Given the description of an element on the screen output the (x, y) to click on. 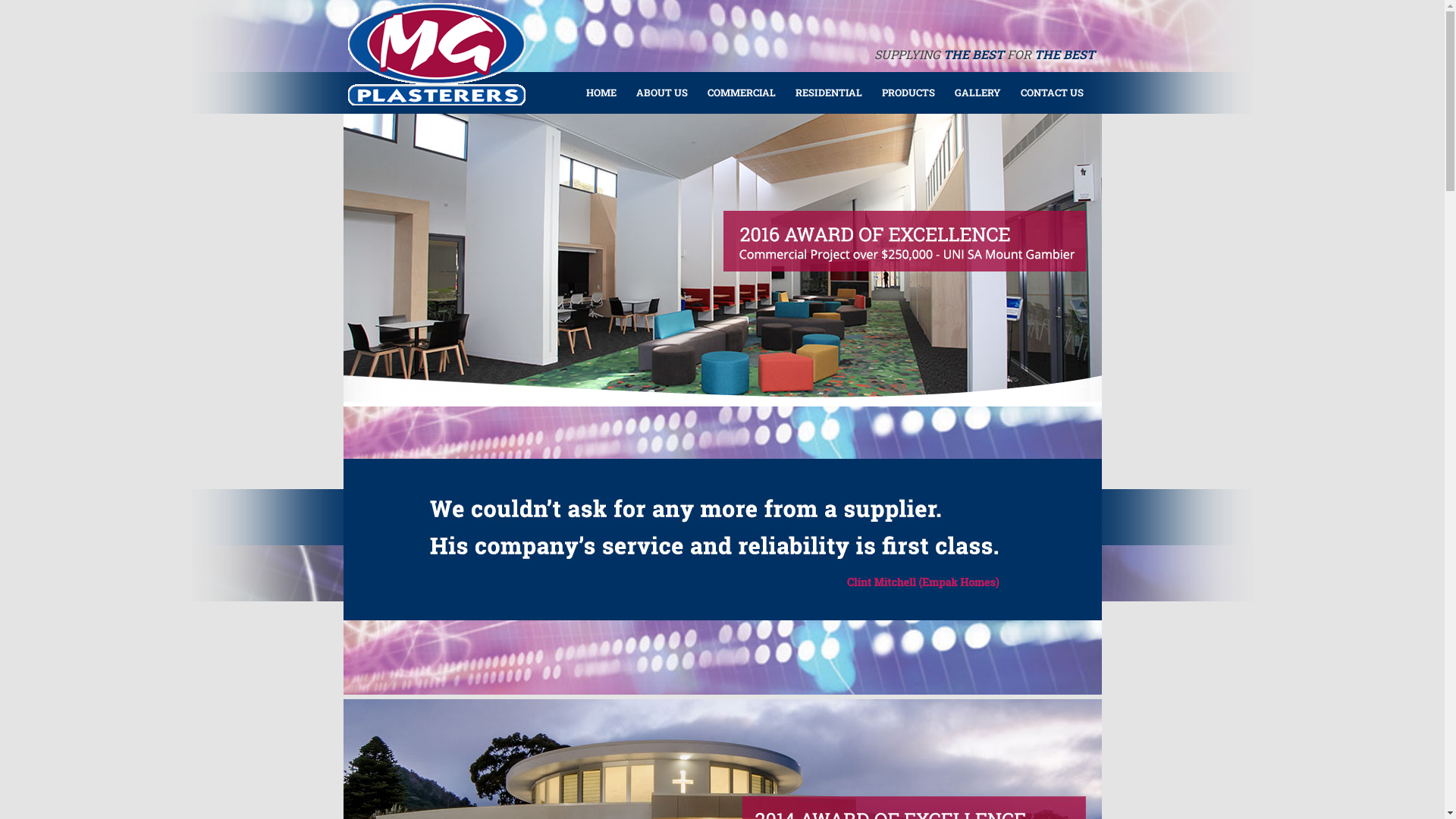
PRODUCTS Element type: text (906, 90)
ABOUT US Element type: text (660, 90)
Site by BGM Element type: text (1083, 561)
HOME Element type: text (599, 90)
admin@mgplasterers.com.au Element type: text (1038, 522)
GALLERY Element type: text (976, 90)
RESIDENTIAL Element type: text (827, 90)
CONTACT US Element type: text (1049, 90)
COMMERCIAL Element type: text (740, 90)
